Given the description of an element on the screen output the (x, y) to click on. 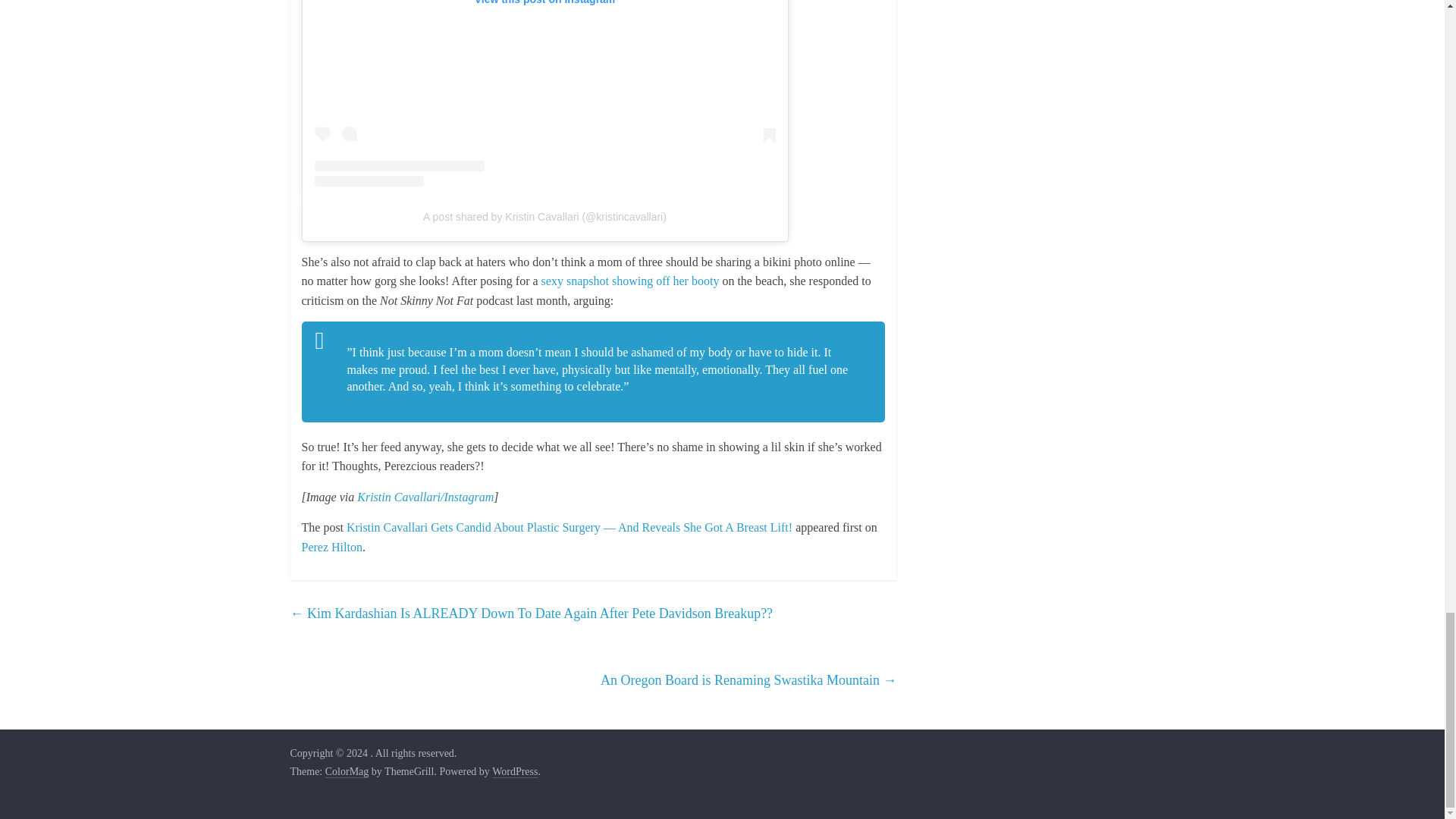
View this post on Instagram (544, 93)
ColorMag (346, 771)
WordPress (514, 771)
